Given the description of an element on the screen output the (x, y) to click on. 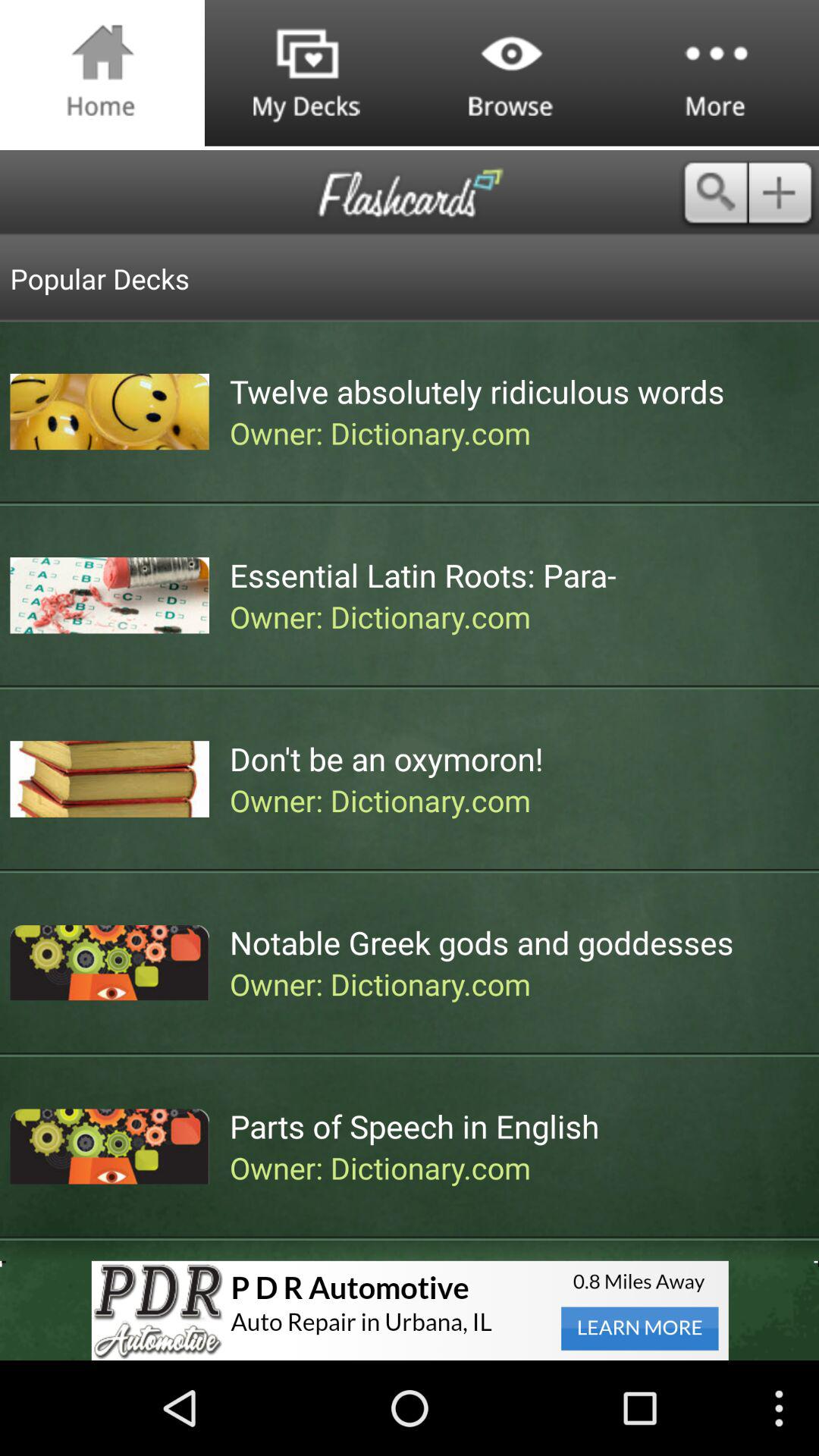
add option (784, 192)
